Given the description of an element on the screen output the (x, y) to click on. 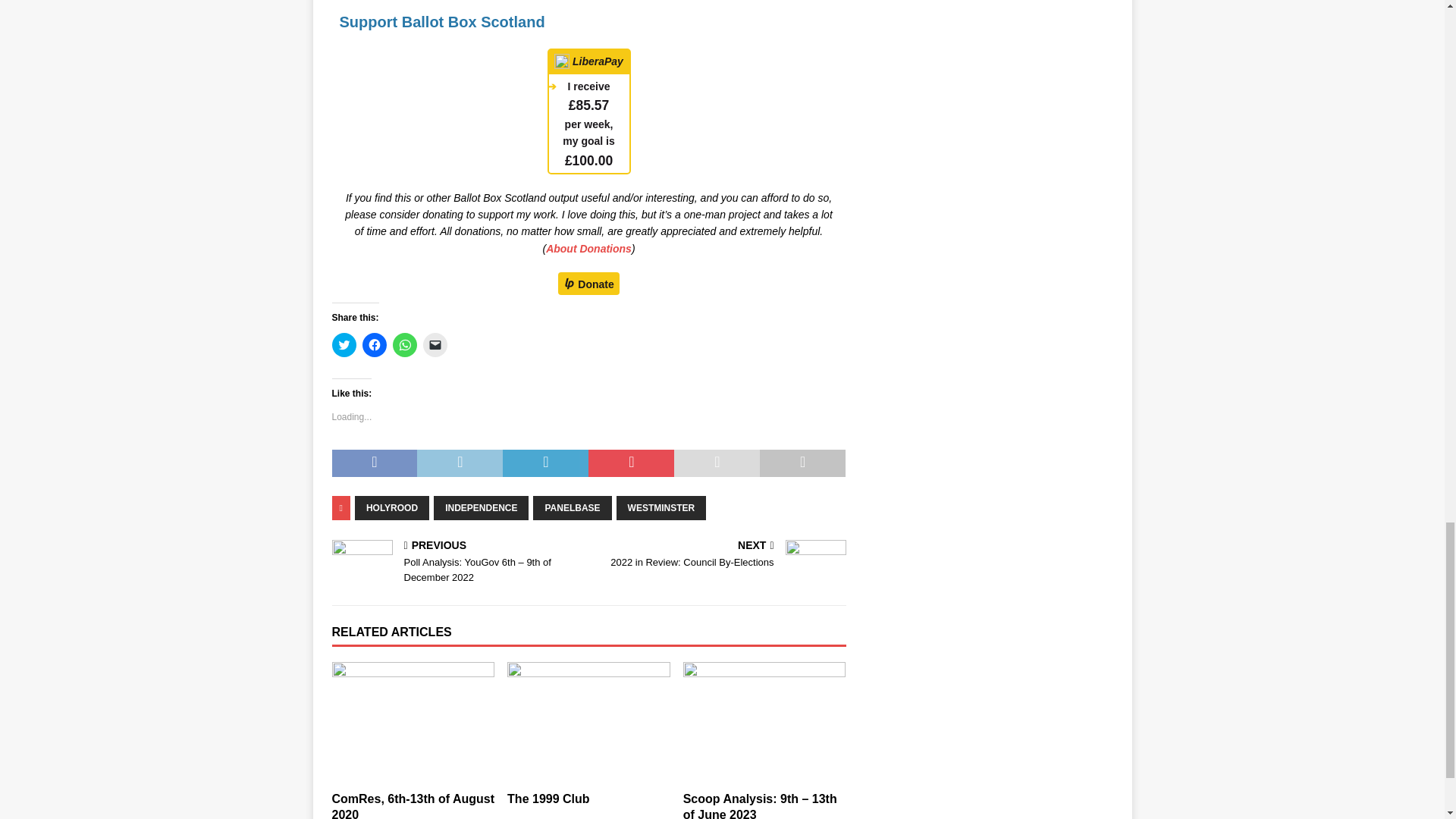
Click to share on Facebook (374, 344)
ComRes, 6th-13th of August 2020 (413, 722)
Click to email a link to a friend (434, 344)
ComRes, 6th-13th of August 2020 (413, 805)
Click to share on Twitter (343, 344)
Click to share on WhatsApp (404, 344)
